Given the description of an element on the screen output the (x, y) to click on. 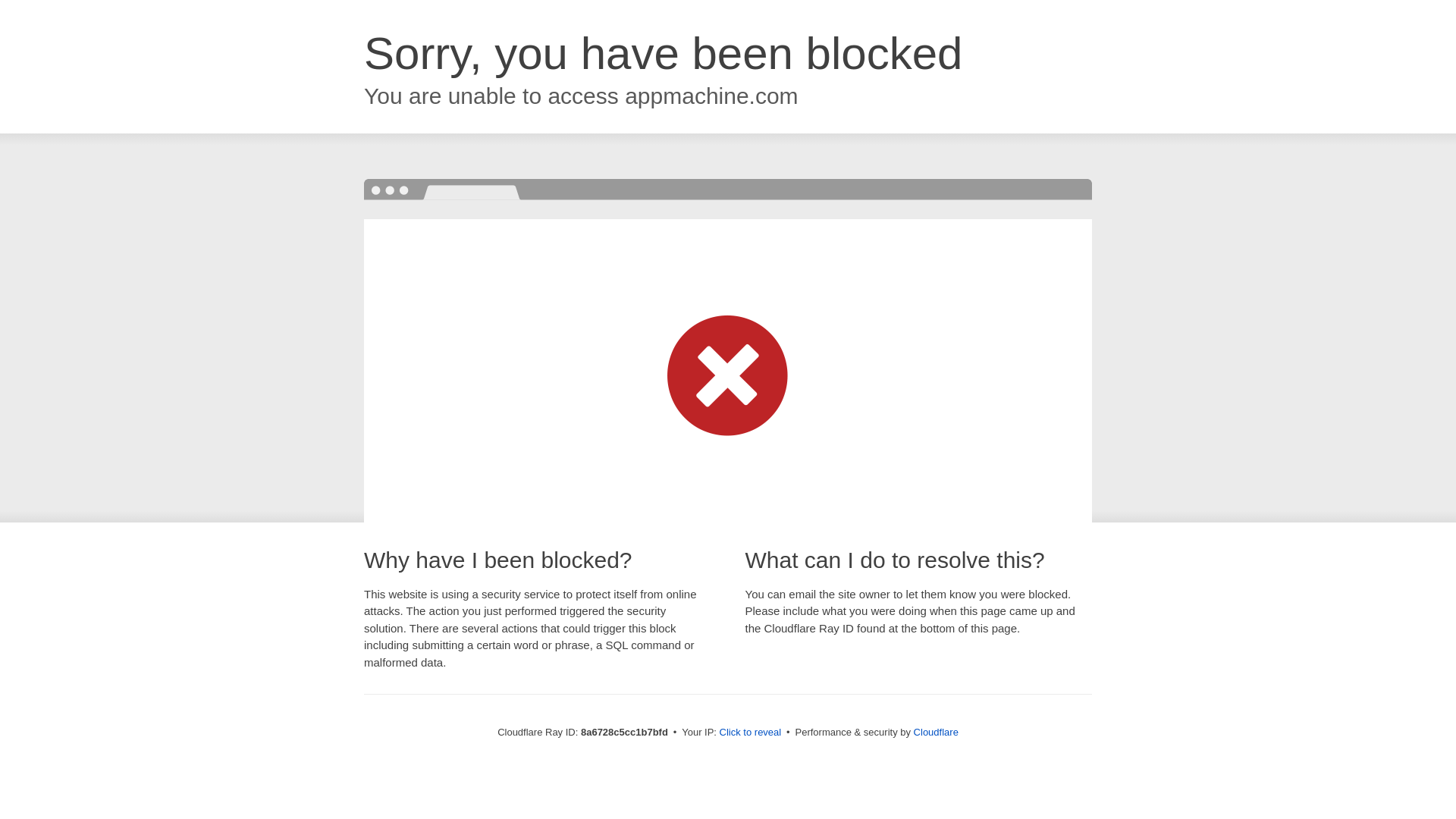
Click to reveal (750, 732)
Cloudflare (936, 731)
